Given the description of an element on the screen output the (x, y) to click on. 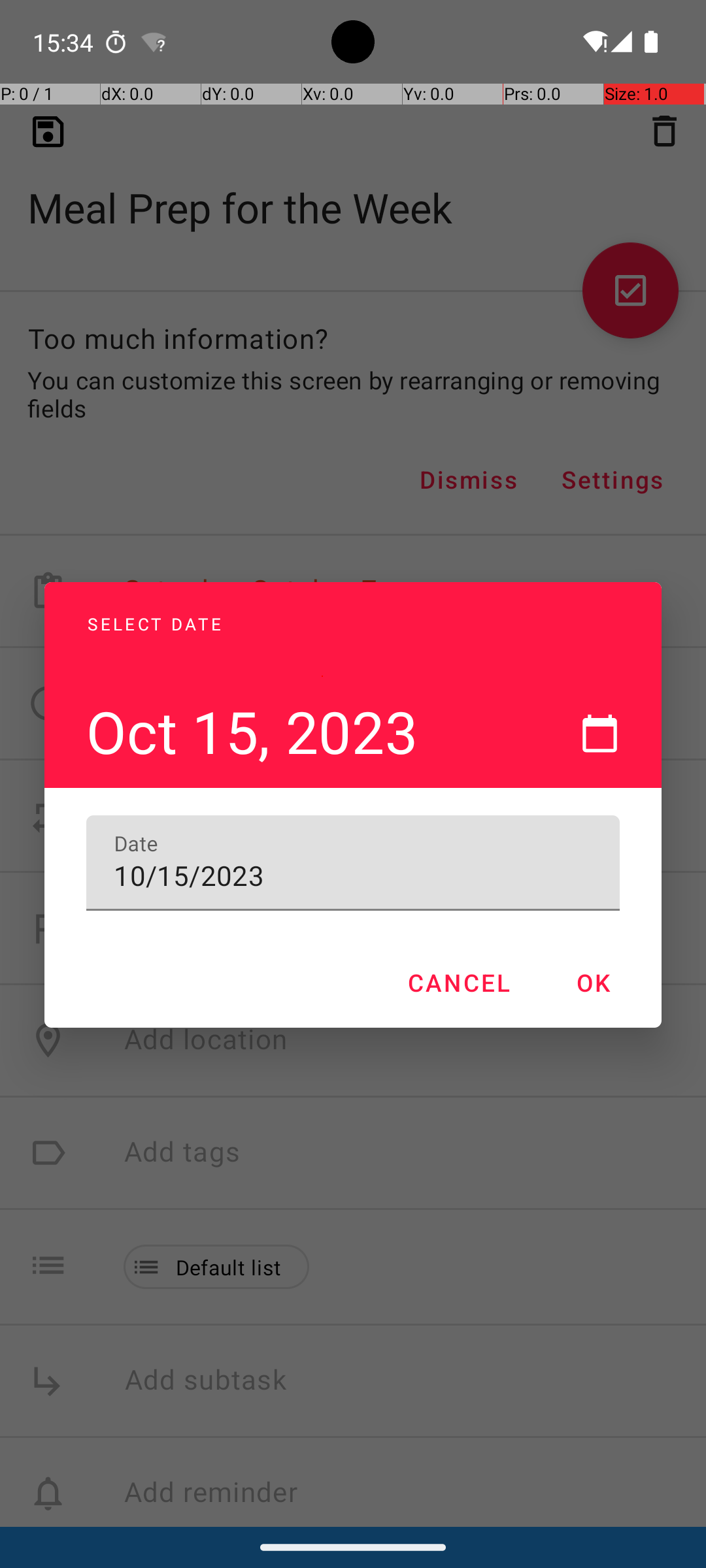
Switch to calendar input mode Element type: android.widget.ImageButton (599, 732)
10/15/2023 Element type: android.widget.EditText (352, 862)
Oct 15, 2023 Element type: android.widget.TextView (322, 676)
SELECT DATE Element type: android.widget.TextView (322, 608)
